Given the description of an element on the screen output the (x, y) to click on. 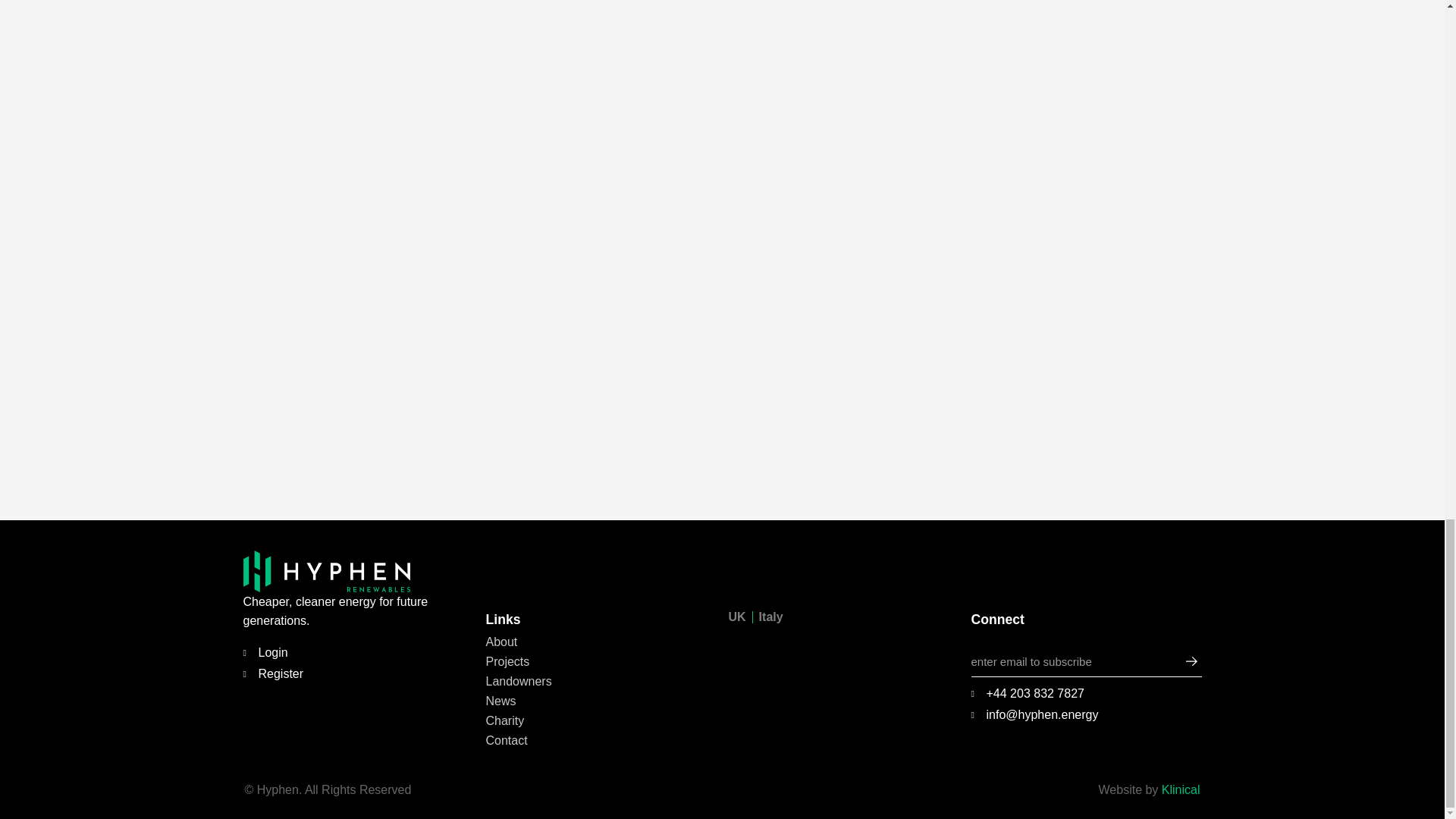
About (600, 642)
News (600, 701)
Klinical (1180, 789)
Landowners (600, 681)
Register (358, 673)
Charity (600, 720)
Login (358, 652)
Contact (600, 740)
Projects (600, 661)
